Given the description of an element on the screen output the (x, y) to click on. 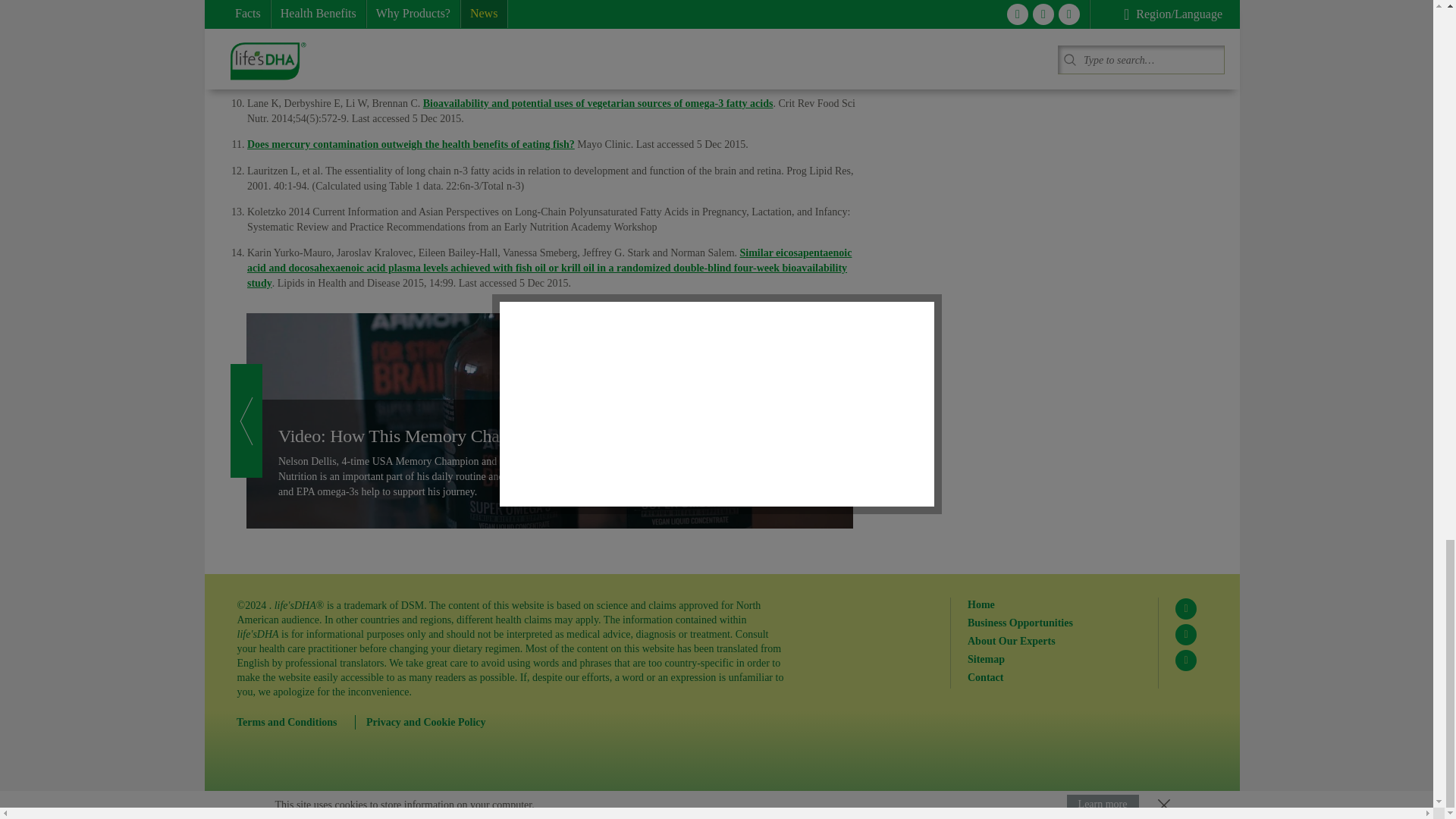
Visit website (547, 13)
Home (1054, 604)
 Privacy and Cookie Policy (431, 721)
Visit website (541, 54)
Visit website (549, 267)
Business Opportunities (1054, 622)
Visit website (598, 102)
Visit website (411, 143)
Terms and Conditions (295, 721)
